Given the description of an element on the screen output the (x, y) to click on. 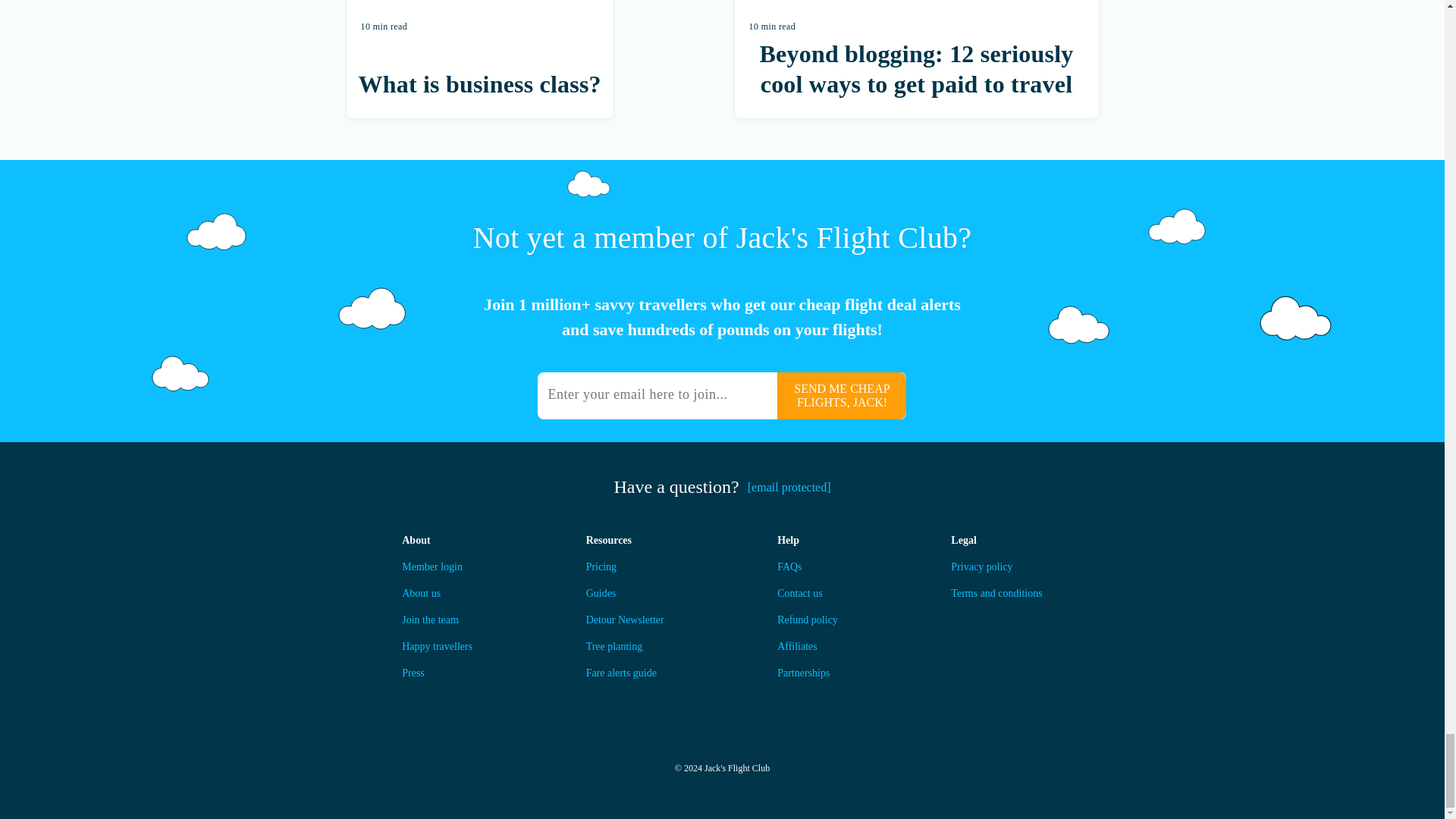
SEND ME CHEAP FLIGHTS, JACK! (841, 395)
What is business class? (478, 83)
What is business class? (479, 19)
